Given the description of an element on the screen output the (x, y) to click on. 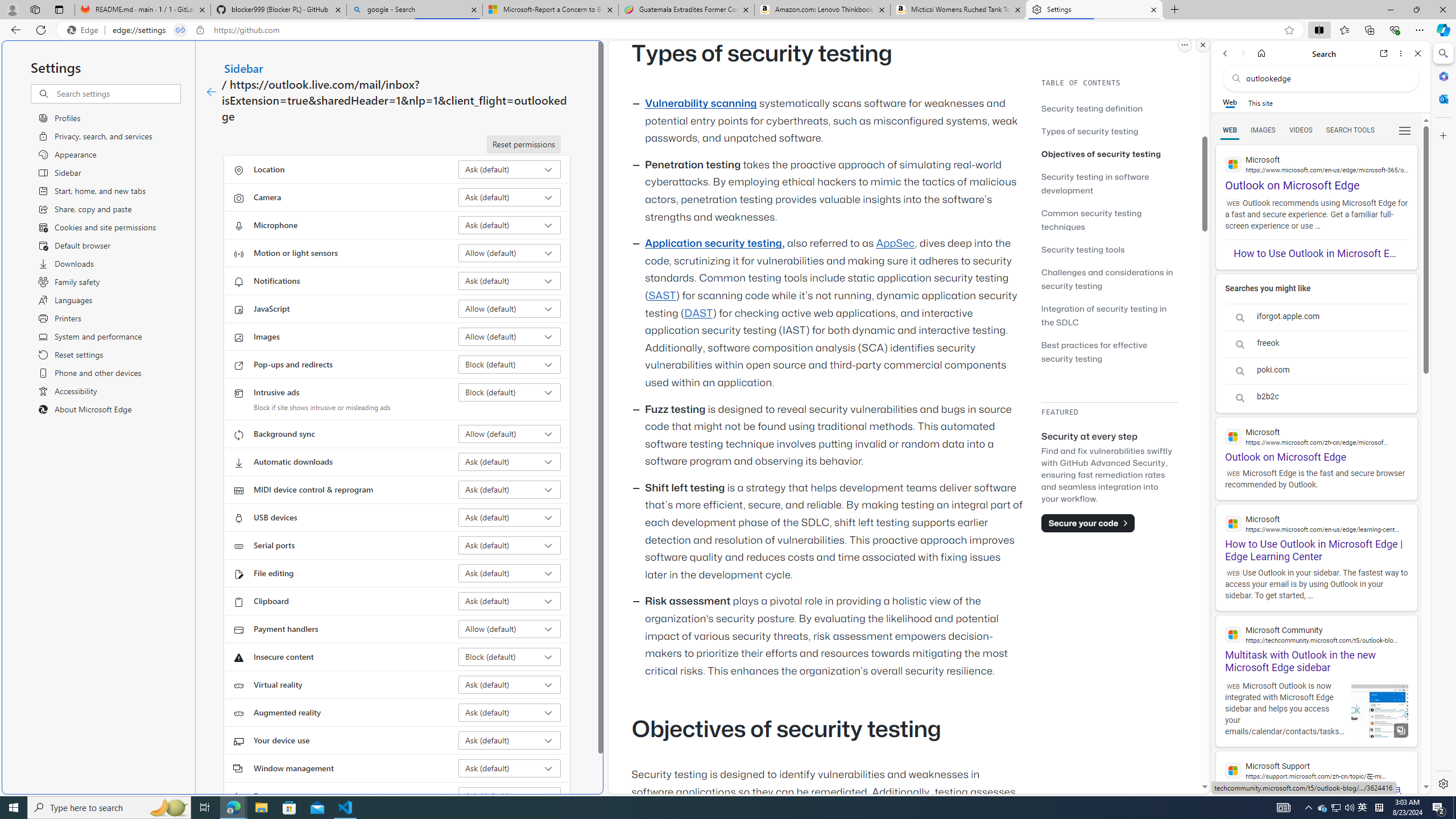
Fonts Ask (default) (509, 796)
Integration of security testing in the SDLC (1104, 314)
Best practices for effective security testing (1109, 351)
Searches you might likeiforgot.apple.comfreeokpoki.comb2b2c (1315, 343)
